Given the description of an element on the screen output the (x, y) to click on. 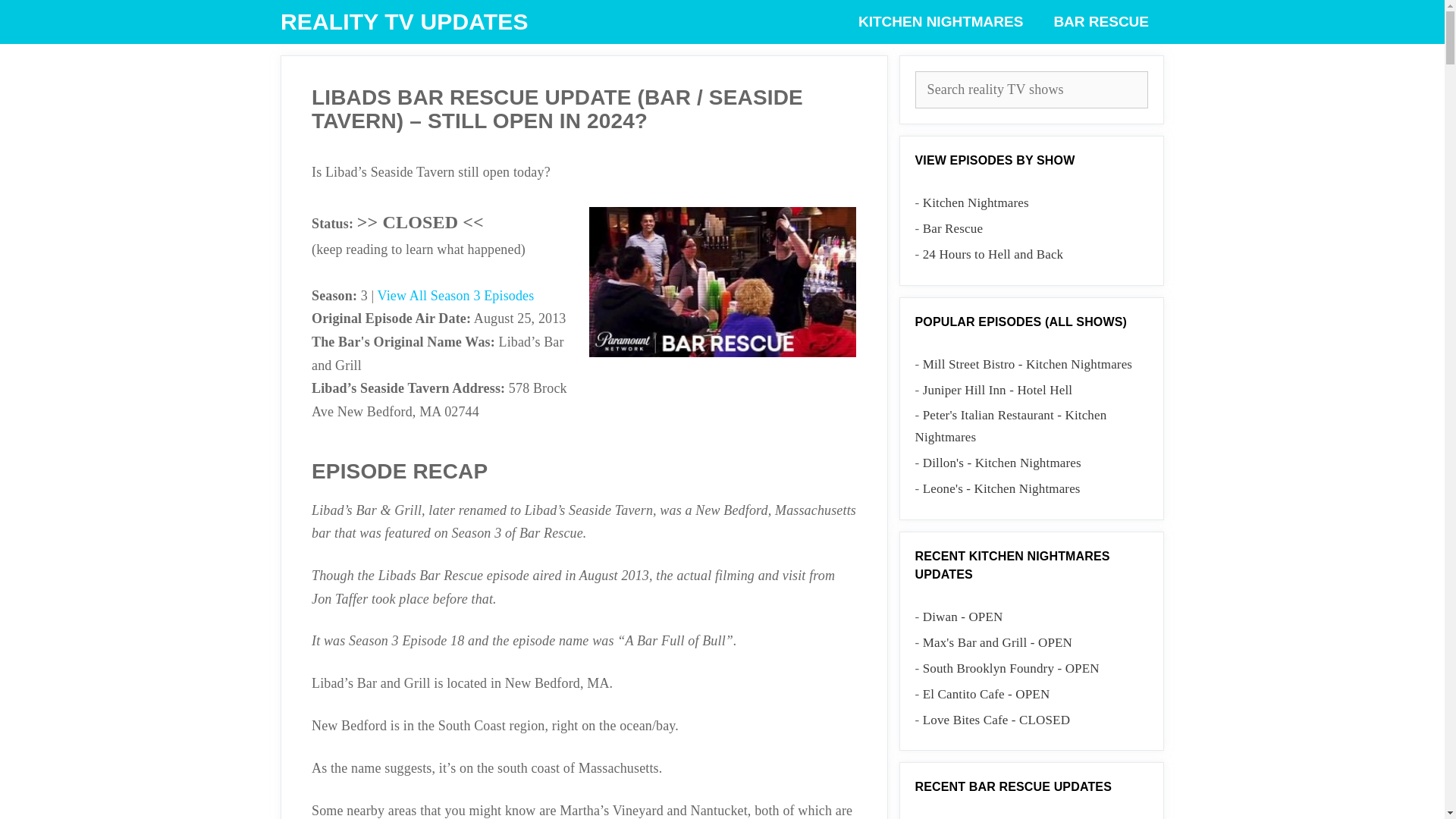
View All Season 3 Episodes (455, 295)
Search (45, 18)
Kitchen Nightmares (976, 202)
BAR RESCUE (1100, 22)
KITCHEN NIGHTMARES (940, 22)
Search for: (1031, 89)
REALITY TV UPDATES (404, 22)
